Given the description of an element on the screen output the (x, y) to click on. 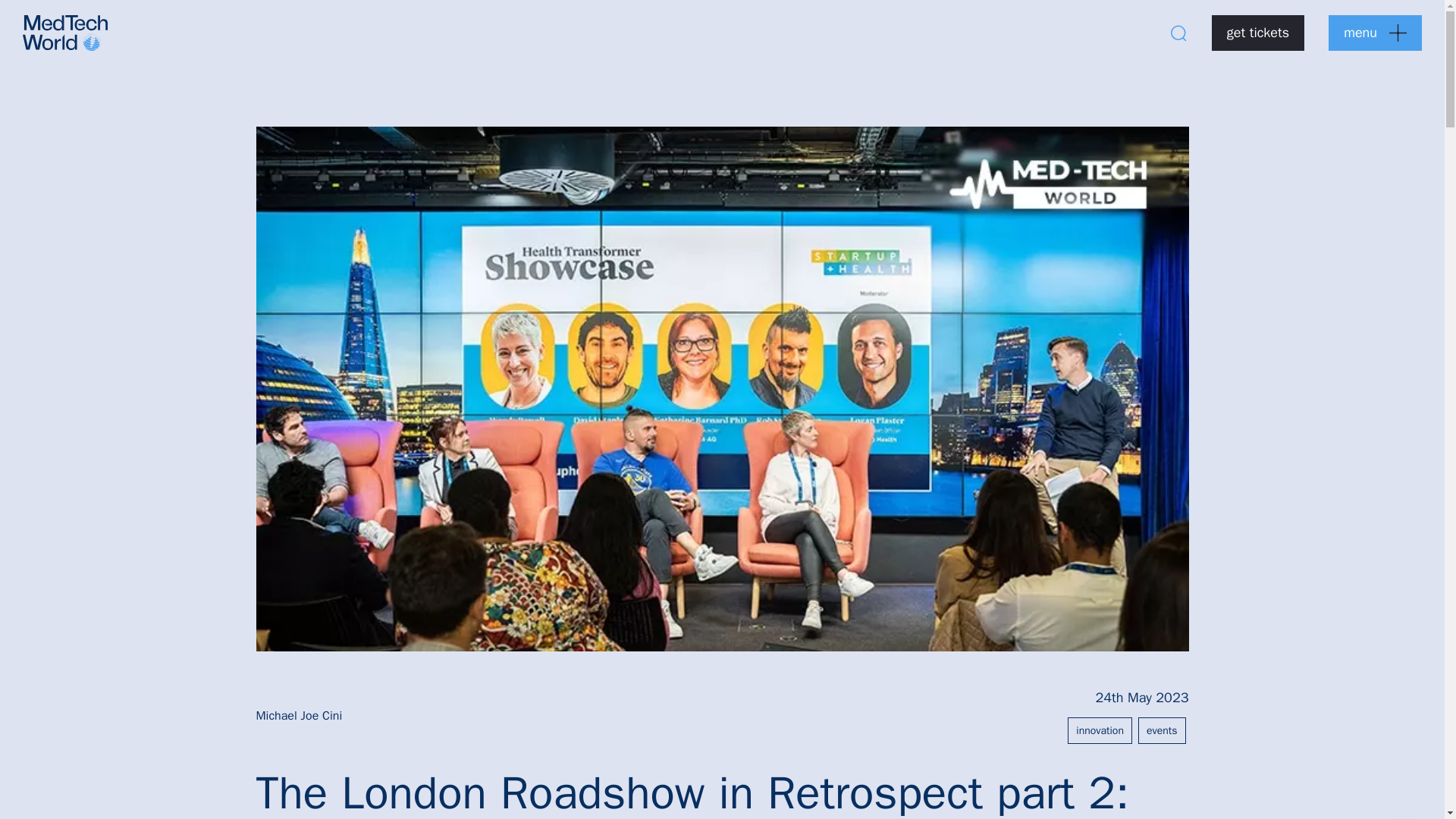
get tickets (1257, 32)
events (1162, 730)
menu (1374, 32)
innovation (1099, 730)
